Given the description of an element on the screen output the (x, y) to click on. 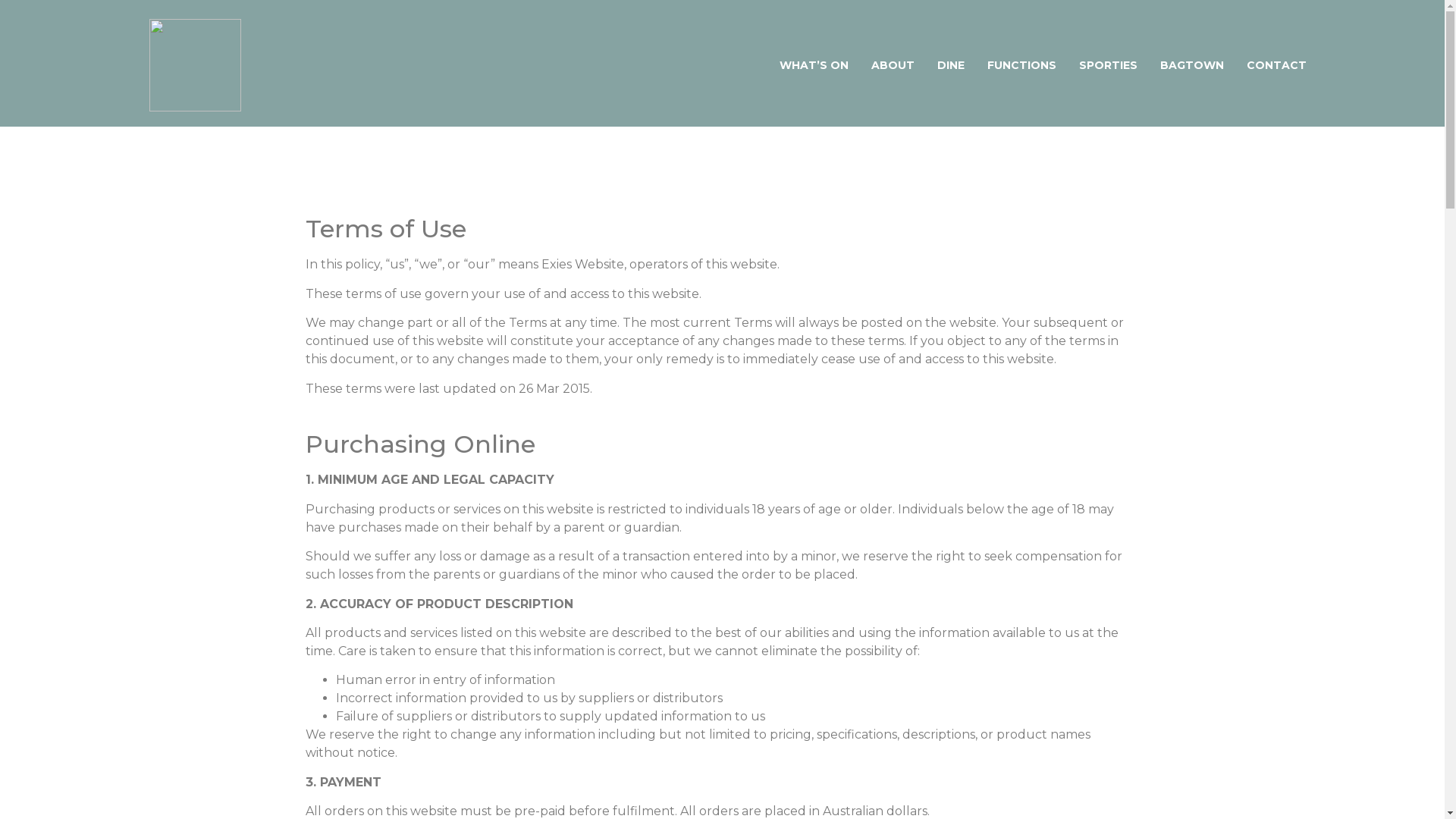
FUNCTIONS Element type: text (1021, 64)
CONTACT Element type: text (1276, 64)
SPORTIES Element type: text (1107, 64)
DINE Element type: text (950, 64)
ABOUT Element type: text (892, 64)
BAGTOWN Element type: text (1191, 64)
